Given the description of an element on the screen output the (x, y) to click on. 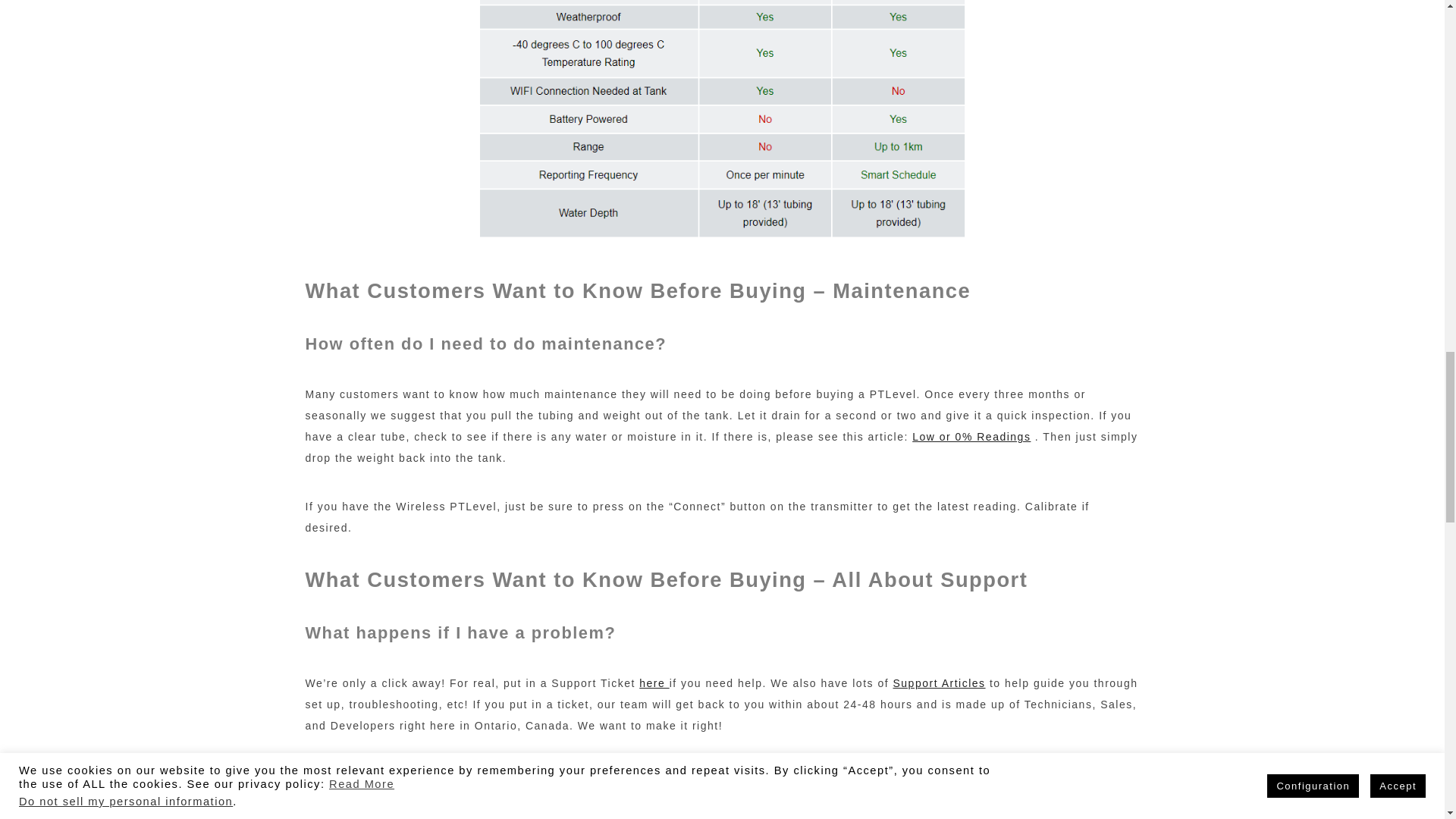
here  (653, 683)
Support Articles (939, 683)
